Given the description of an element on the screen output the (x, y) to click on. 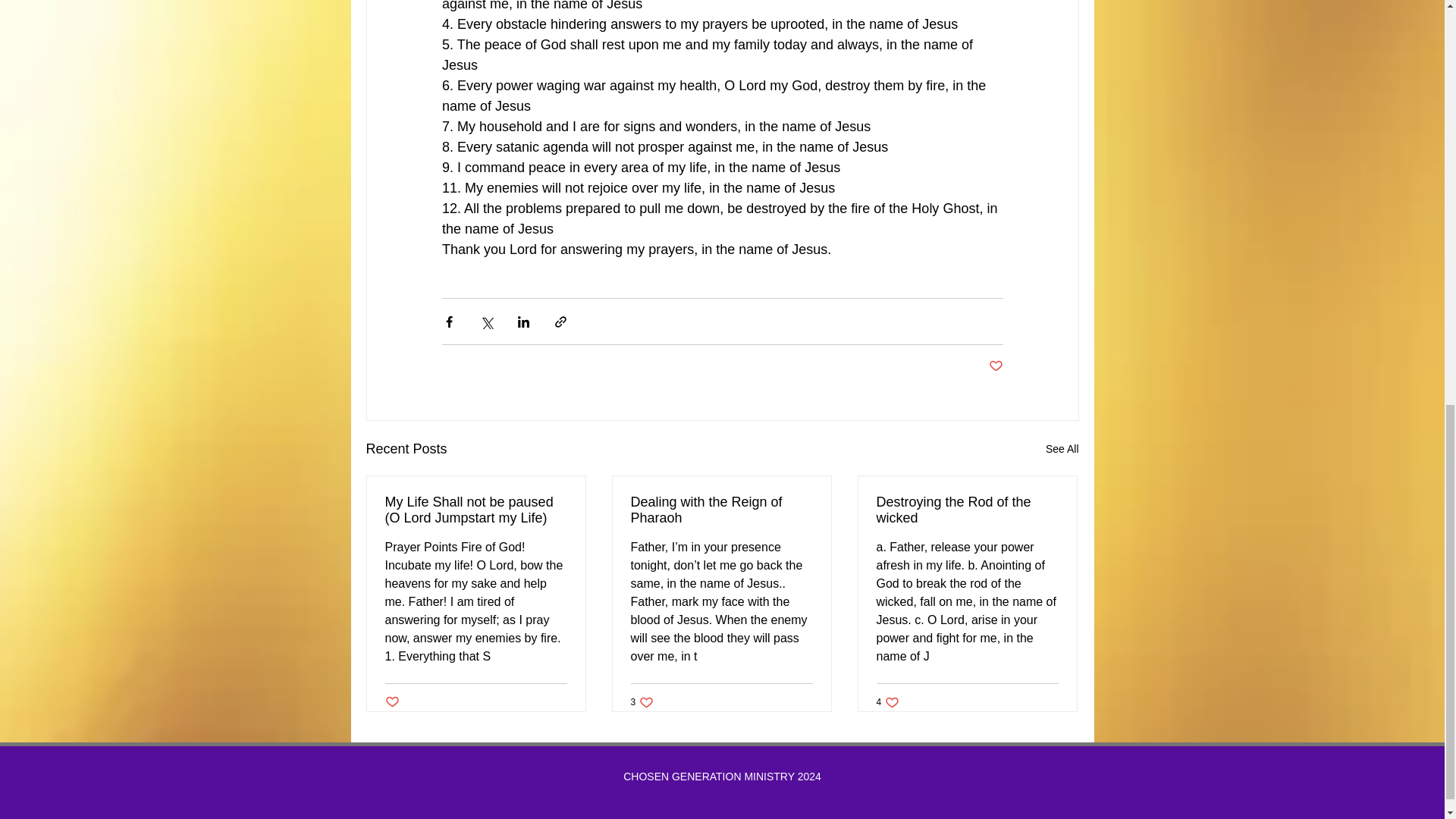
Dealing with the Reign of Pharaoh (721, 510)
Destroying the Rod of the wicked (967, 510)
Post not marked as liked (995, 366)
See All (1061, 449)
Post not marked as liked (887, 701)
